Given the description of an element on the screen output the (x, y) to click on. 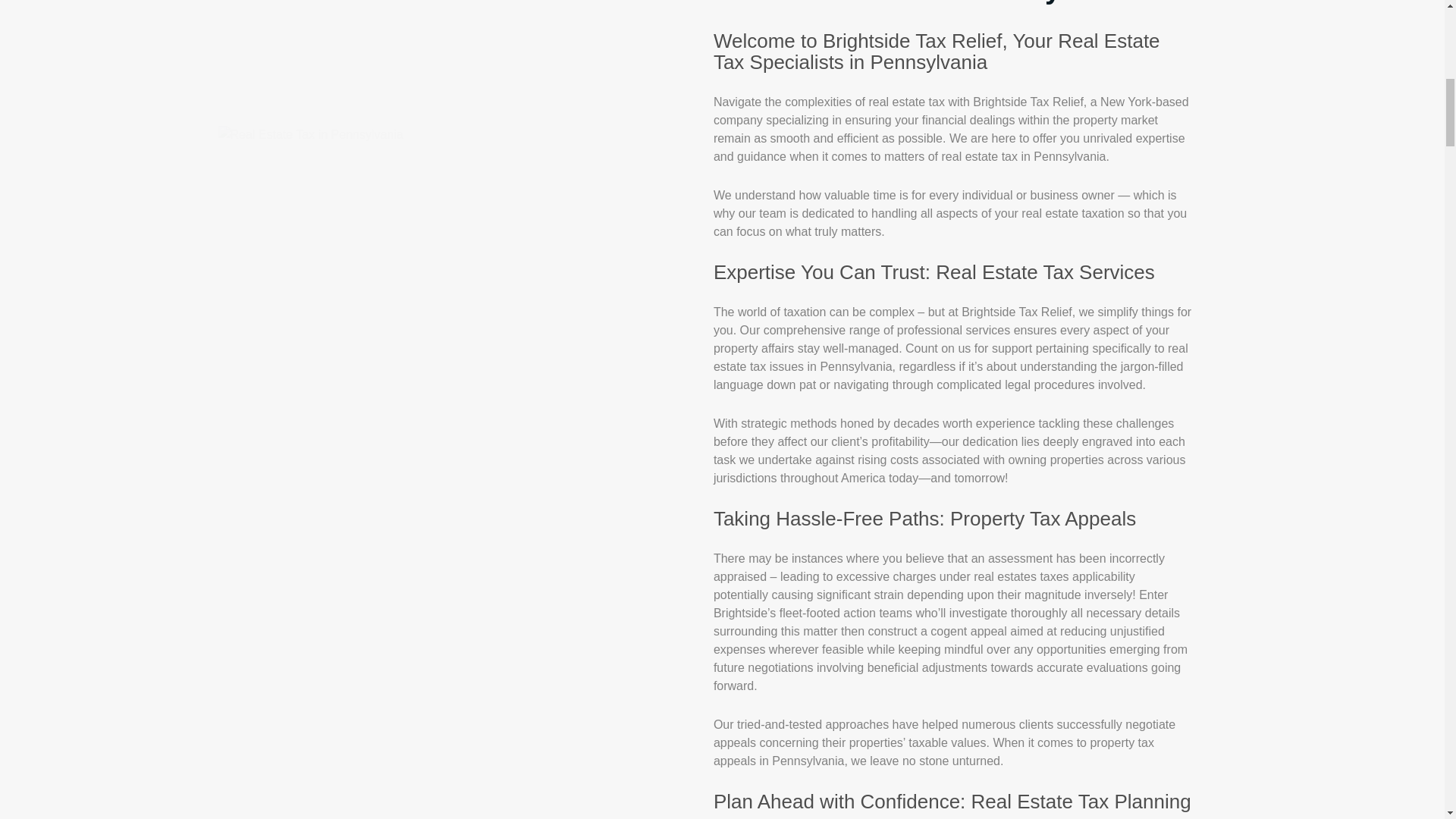
Real Estate Tax in Pennsylvania 1 (310, 135)
Real Estate Tax in Pennsylvania 2 (444, 349)
Real Estate Tax in Pennsylvania 3 (444, 688)
